Given the description of an element on the screen output the (x, y) to click on. 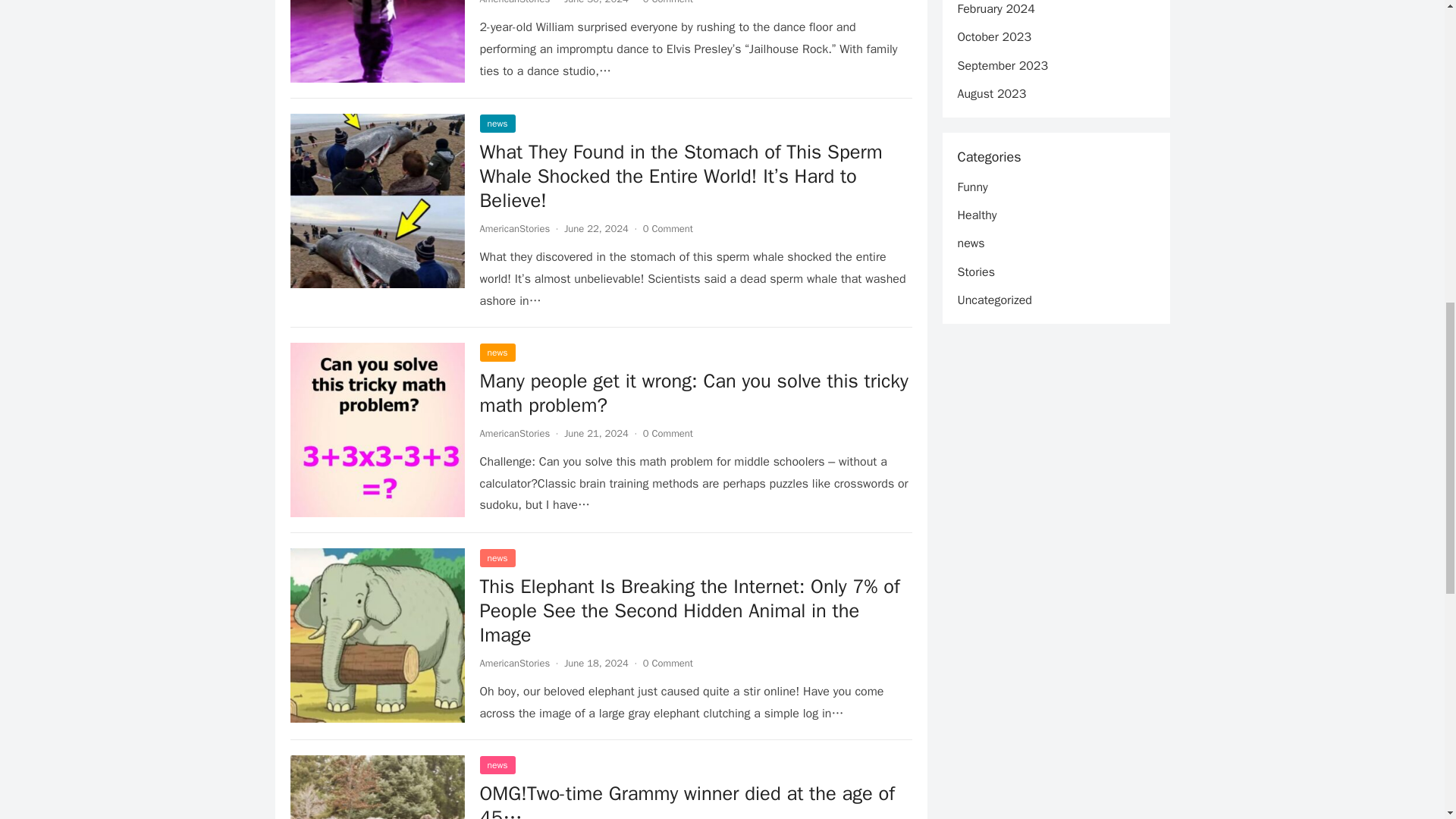
AmericanStories (514, 228)
0 Comment (668, 2)
0 Comment (668, 228)
0 Comment (668, 662)
news (497, 764)
AmericanStories (514, 662)
Posts by AmericanStories (514, 662)
AmericanStories (514, 432)
news (497, 123)
news (497, 557)
Posts by AmericanStories (514, 228)
Posts by AmericanStories (514, 2)
Posts by AmericanStories (514, 432)
news (497, 352)
